Given the description of an element on the screen output the (x, y) to click on. 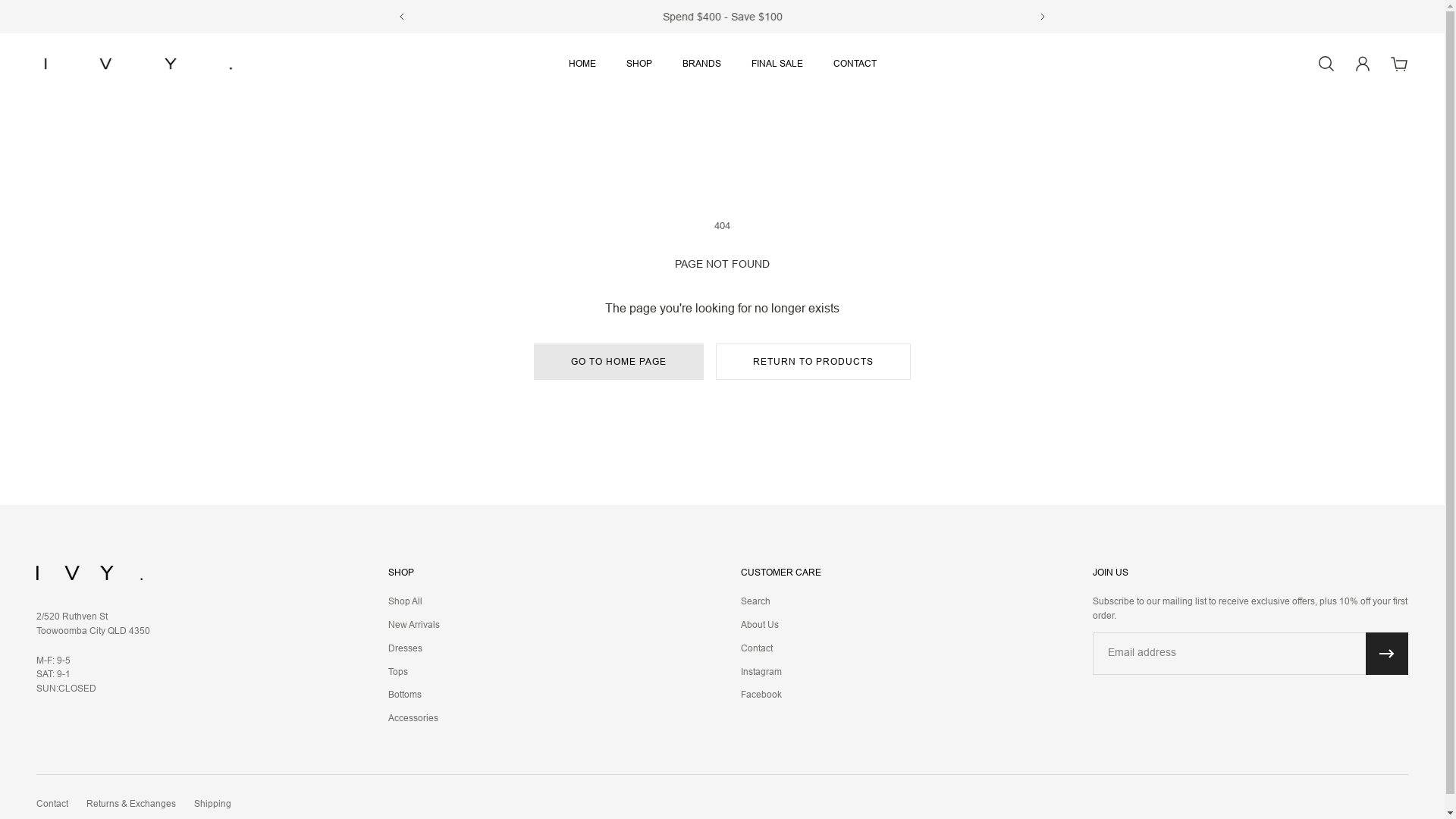
Contact Element type: text (760, 648)
FINAL SALE Element type: text (776, 70)
CONTACT Element type: text (854, 70)
RETURN TO PRODUCTS Element type: text (812, 361)
New Arrivals Element type: text (413, 625)
Contact Element type: text (52, 803)
SHOP Element type: text (639, 70)
Tops Element type: text (413, 672)
Shop All Element type: text (413, 601)
BRANDS Element type: text (701, 70)
HOME Element type: text (582, 70)
Shipping Element type: text (212, 803)
GO TO HOME PAGE Element type: text (618, 361)
Search Element type: text (760, 601)
Returns & Exchanges Element type: text (130, 803)
Dresses Element type: text (413, 648)
Facebook Element type: text (760, 694)
Instagram Element type: text (760, 672)
Accessories Element type: text (413, 718)
About Us Element type: text (760, 625)
Bottoms Element type: text (413, 694)
